Given the description of an element on the screen output the (x, y) to click on. 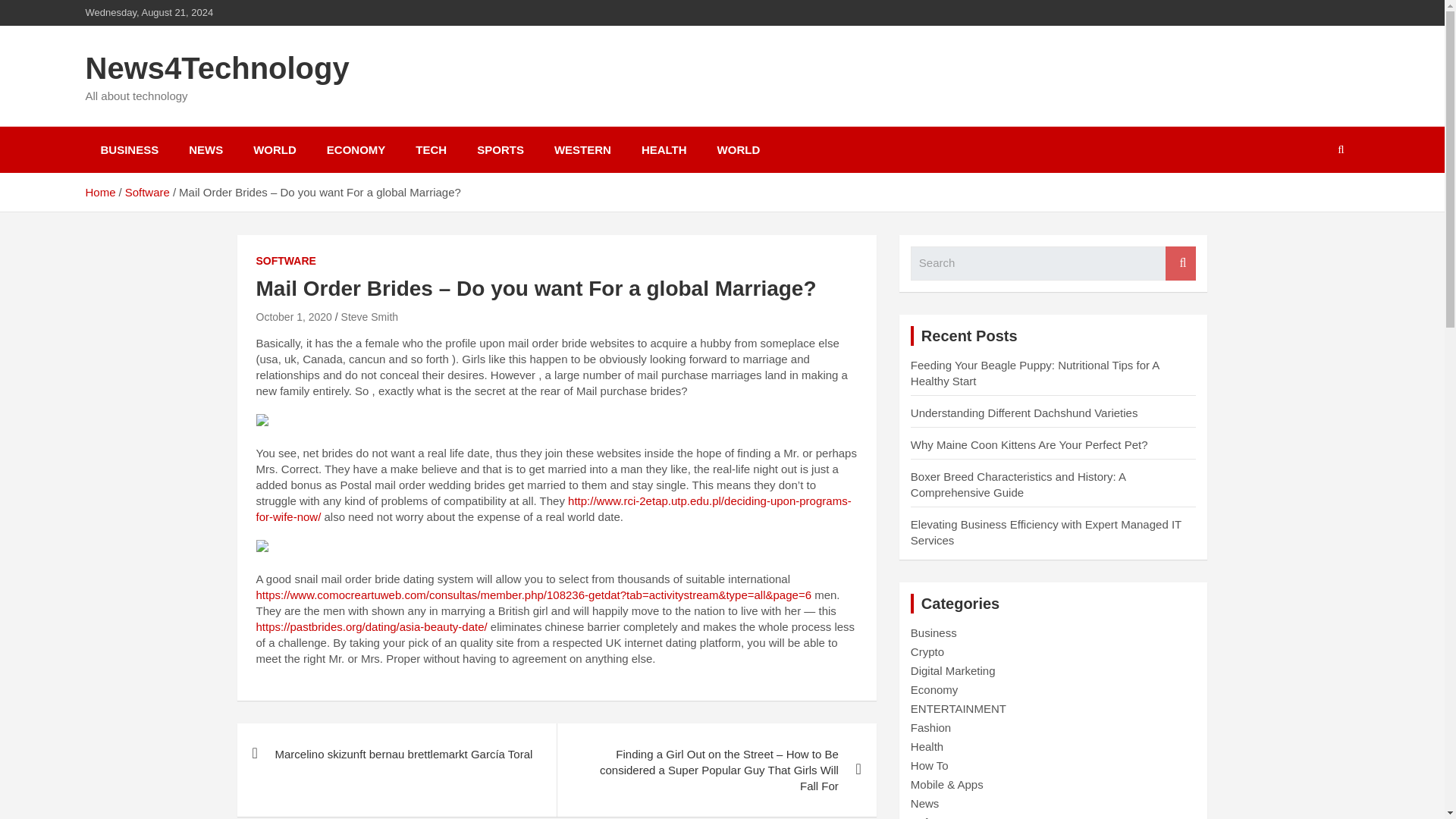
HEALTH (663, 149)
Economy (934, 689)
WESTERN (582, 149)
Understanding Different Dachshund Varieties (1024, 412)
SPORTS (499, 149)
NEWS (205, 149)
Why Maine Coon Kittens Are Your Perfect Pet? (1029, 444)
SOFTWARE (285, 261)
Crypto (927, 651)
News4Technology (216, 68)
